Given the description of an element on the screen output the (x, y) to click on. 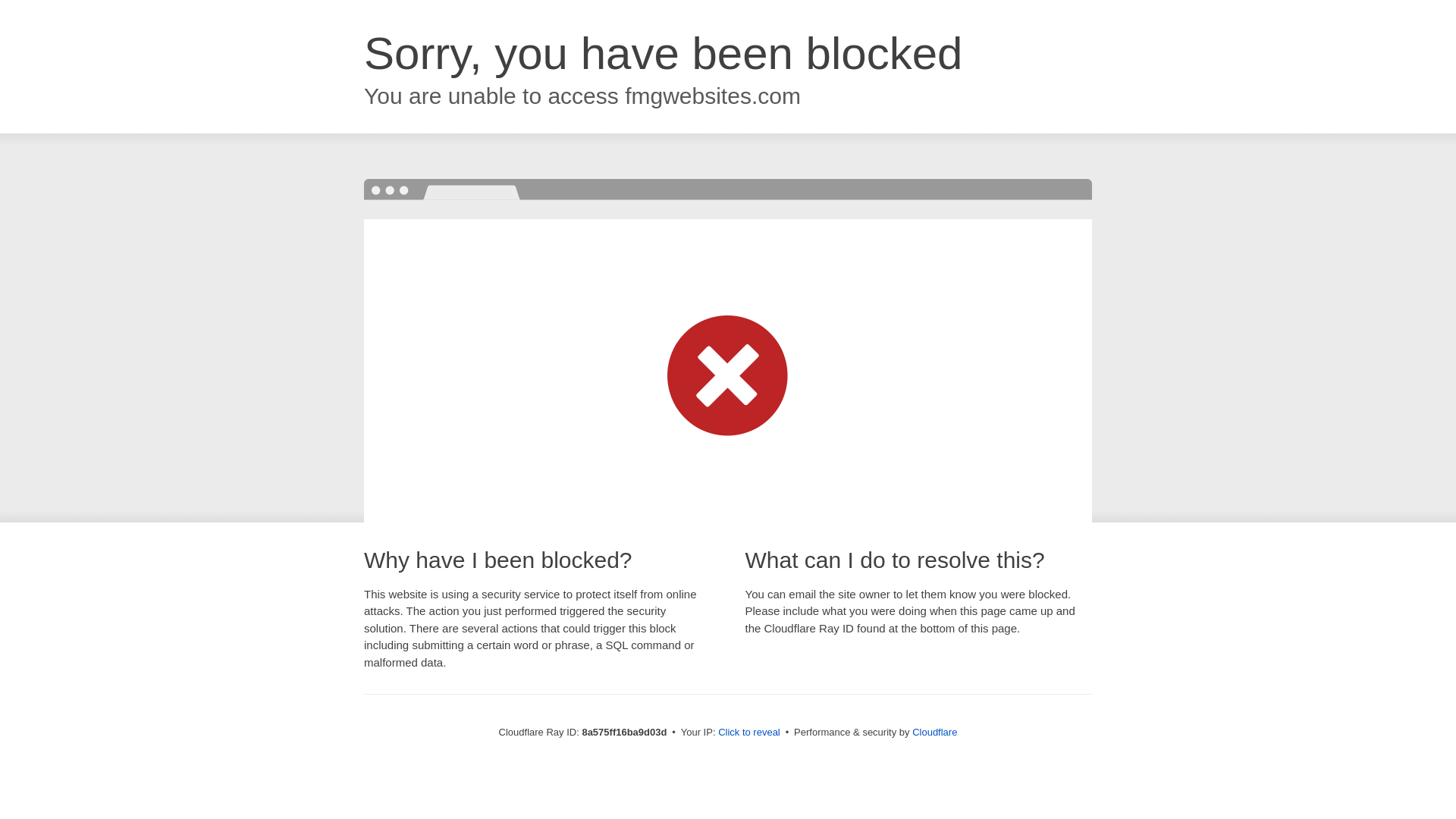
Click to reveal (748, 732)
Cloudflare (934, 731)
